Given the description of an element on the screen output the (x, y) to click on. 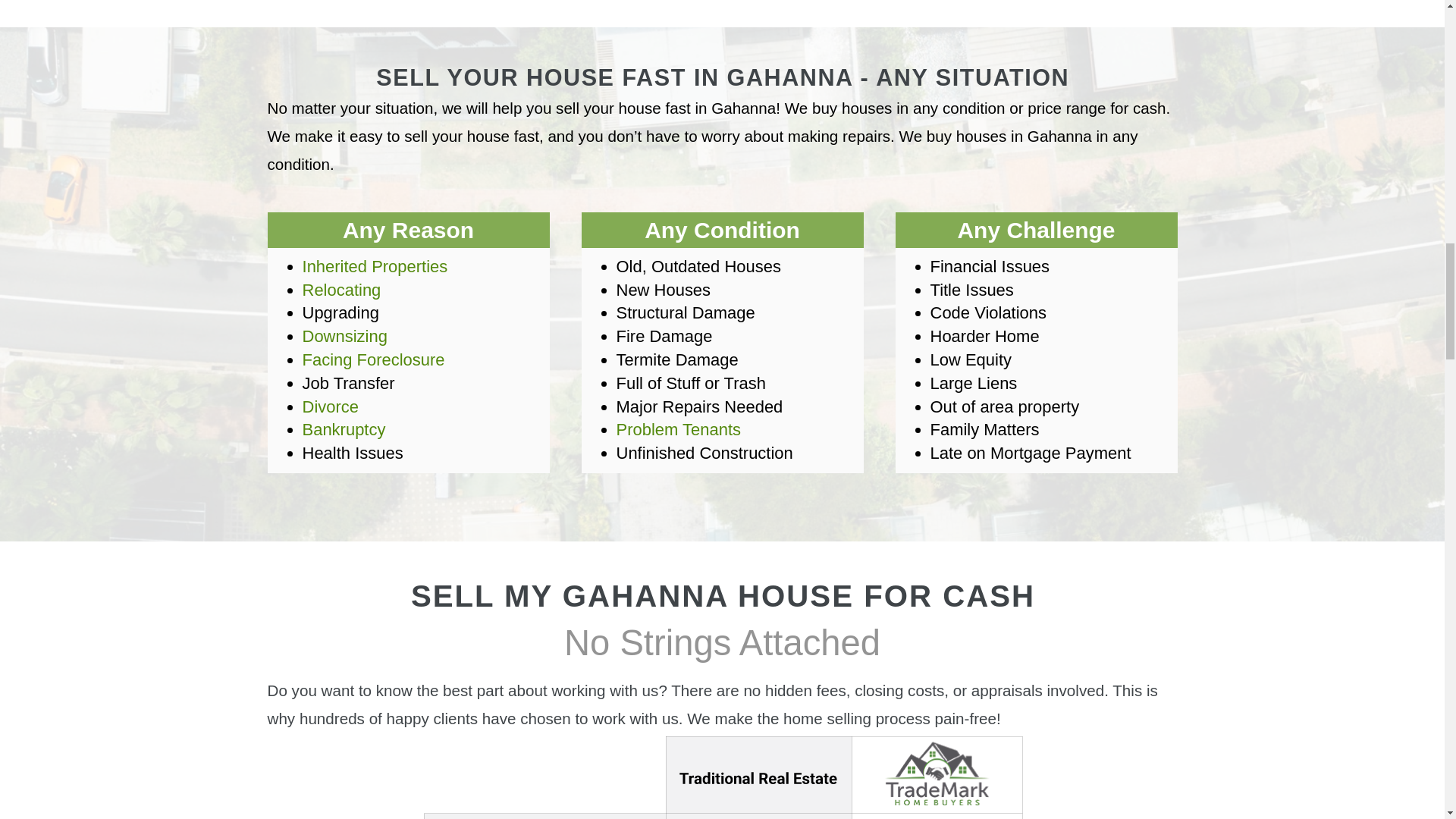
Problem Tenants (678, 429)
Relocating (341, 289)
Downsizing (344, 335)
Bankruptcy (343, 429)
Inherited Properties (375, 266)
Facing Foreclosure (373, 359)
Divorce (330, 406)
